Given the description of an element on the screen output the (x, y) to click on. 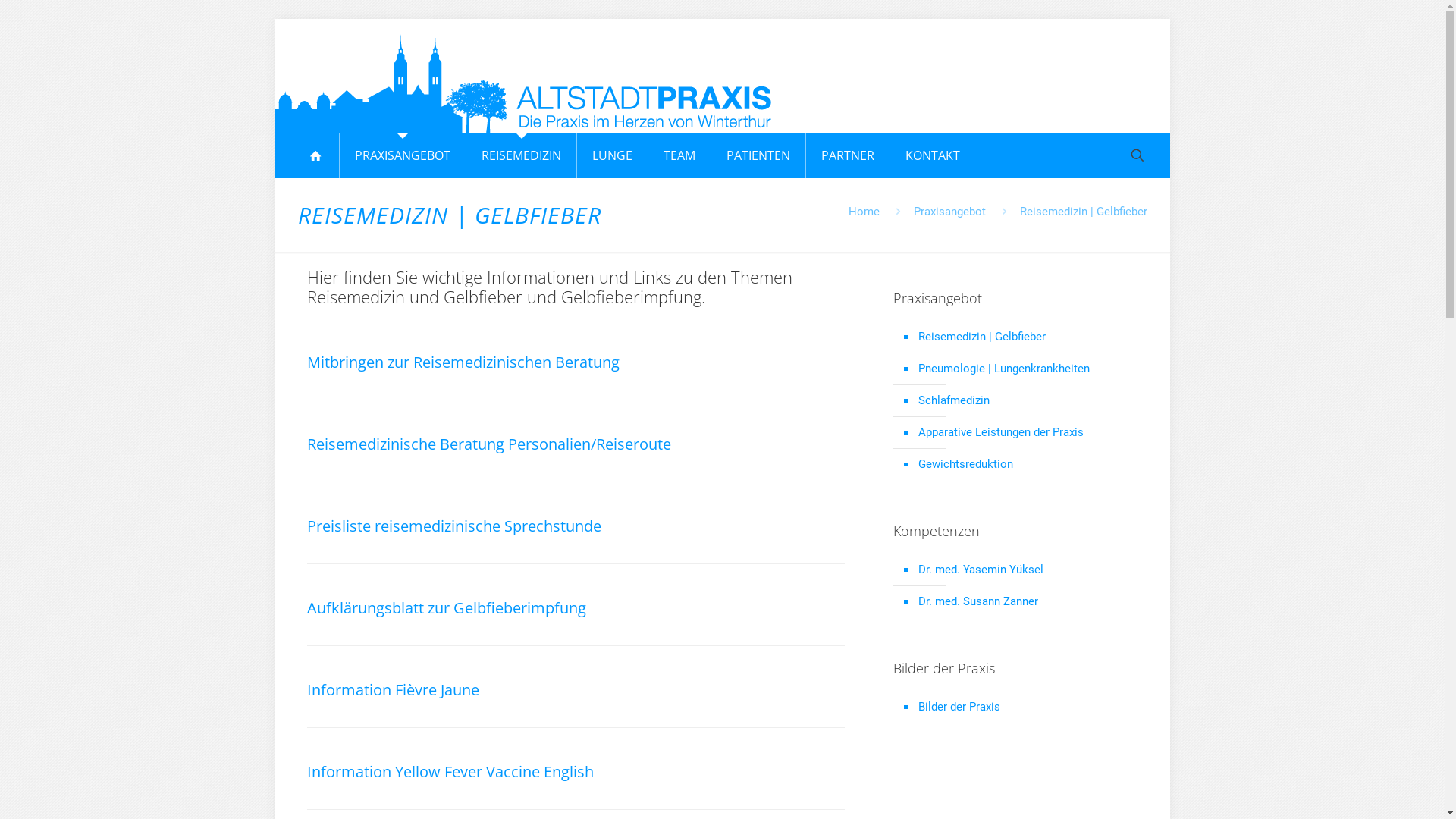
LUNGE Element type: text (612, 155)
Dr. med. Susann Zanner Element type: text (1023, 602)
TEAM Element type: text (679, 155)
KONTAKT Element type: text (932, 155)
Mitbringen zur Reisemedizinischen Beratung Element type: text (575, 350)
PATIENTEN Element type: text (758, 155)
Information Yellow Fever Vaccine English Element type: text (575, 760)
Bilder der Praxis Element type: text (1023, 707)
Pneumologie | Lungenkrankheiten Element type: text (1023, 369)
PRAXISANGEBOT Element type: text (402, 155)
Gewichtsreduktion Element type: text (1023, 464)
Home Element type: text (862, 211)
Reisemedizin | Gelbfieber Element type: text (1023, 337)
Praxisangebot Element type: text (949, 211)
home Element type: hover (314, 155)
Reisemedizinische Beratung Personalien/Reiseroute Element type: text (575, 432)
Schlafmedizin Element type: text (1023, 401)
REISEMEDIZIN Element type: text (521, 155)
Preisliste reisemedizinische Sprechstunde Element type: text (575, 514)
PARTNER Element type: text (848, 155)
Apparative Leistungen der Praxis Element type: text (1023, 432)
